Given the description of an element on the screen output the (x, y) to click on. 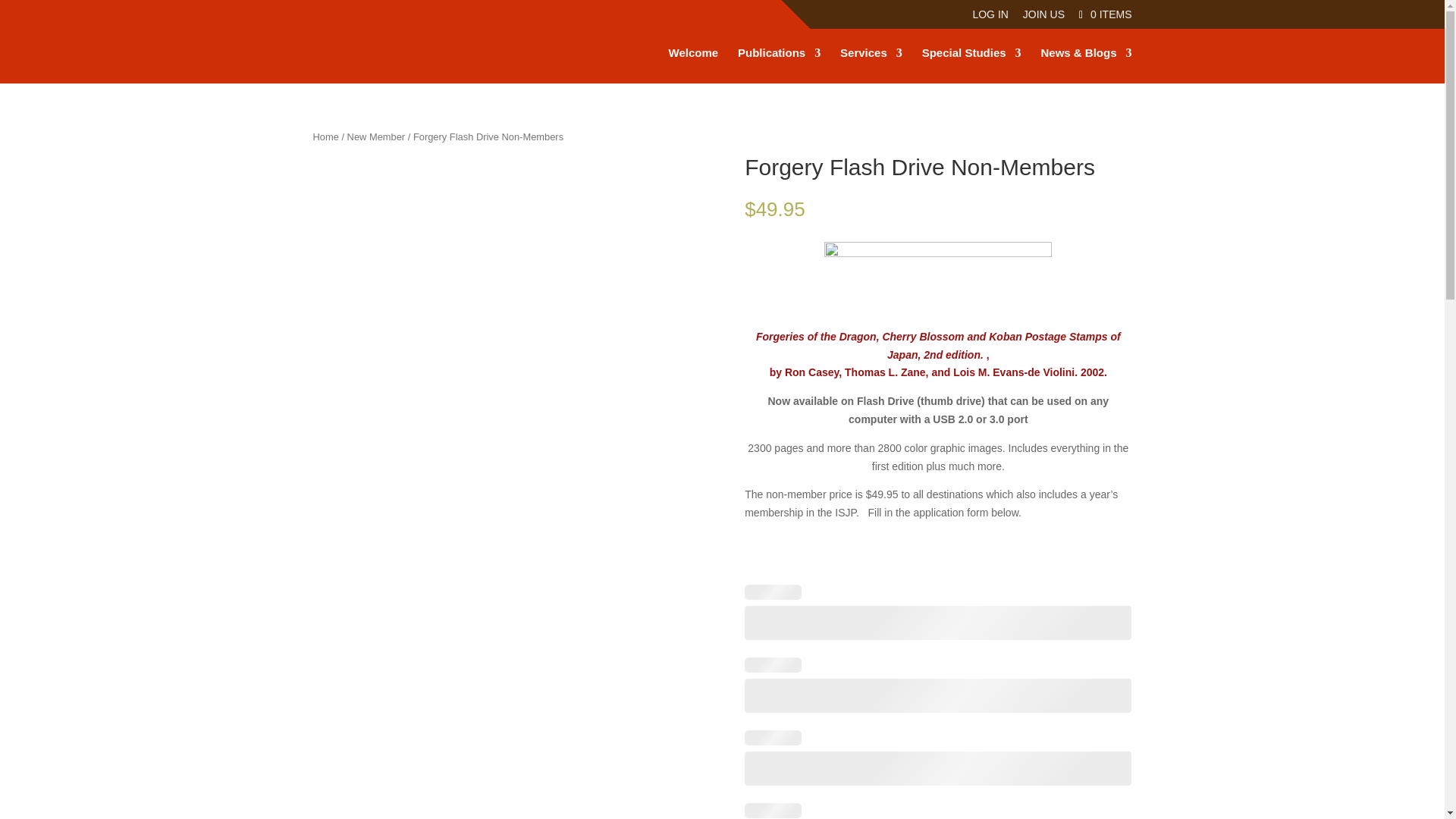
New Member (376, 136)
Home (325, 136)
Special Studies (971, 65)
JOIN US (1043, 17)
Welcome (693, 65)
0 ITEMS (1103, 13)
LOG IN (989, 17)
Services (871, 65)
Publications (779, 65)
